Given the description of an element on the screen output the (x, y) to click on. 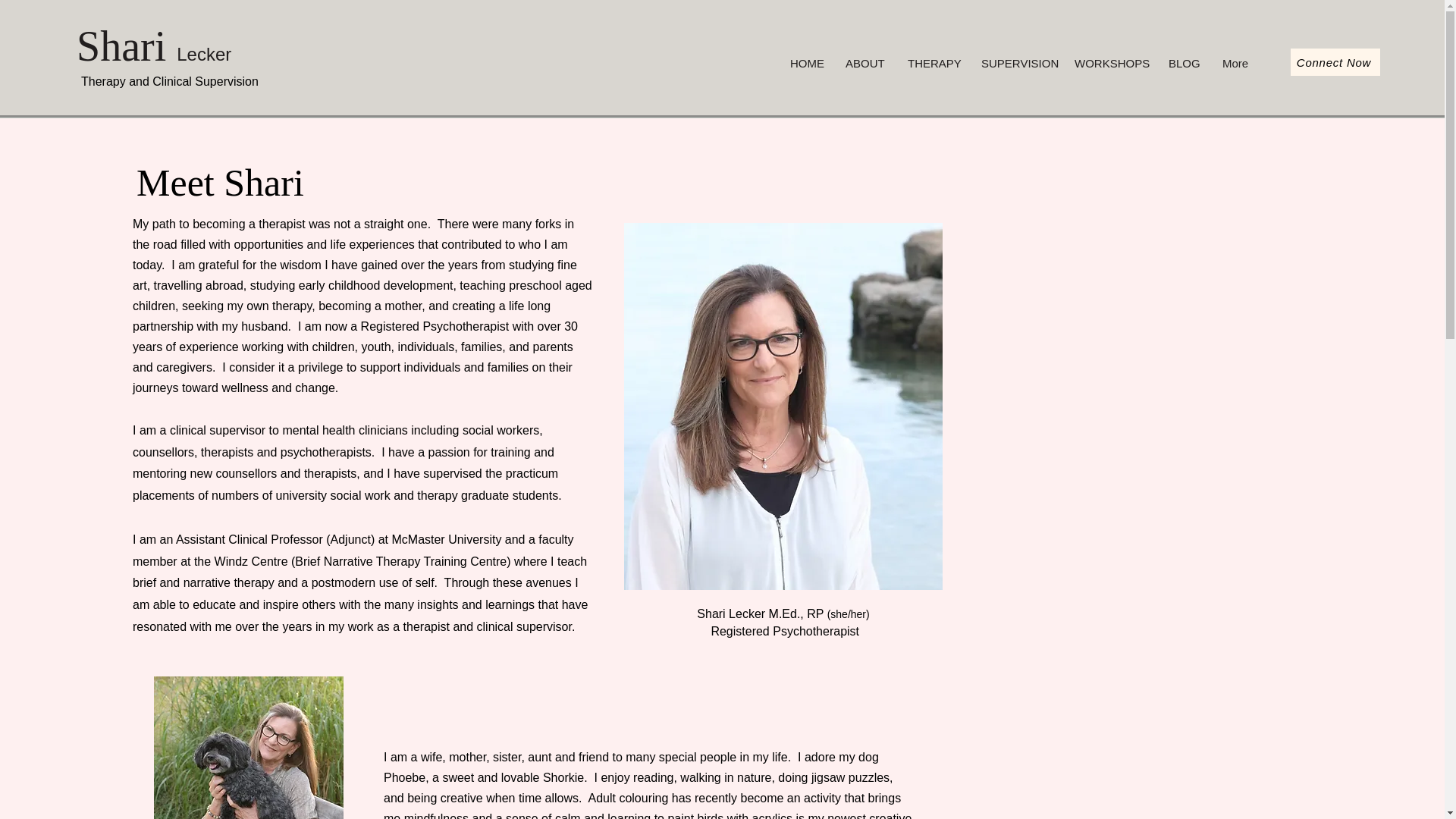
SUPERVISION (1015, 63)
BLOG (1184, 63)
Connect Now (1335, 62)
THERAPY (932, 63)
WORKSHOPS (1109, 63)
HOME (806, 63)
